Given the description of an element on the screen output the (x, y) to click on. 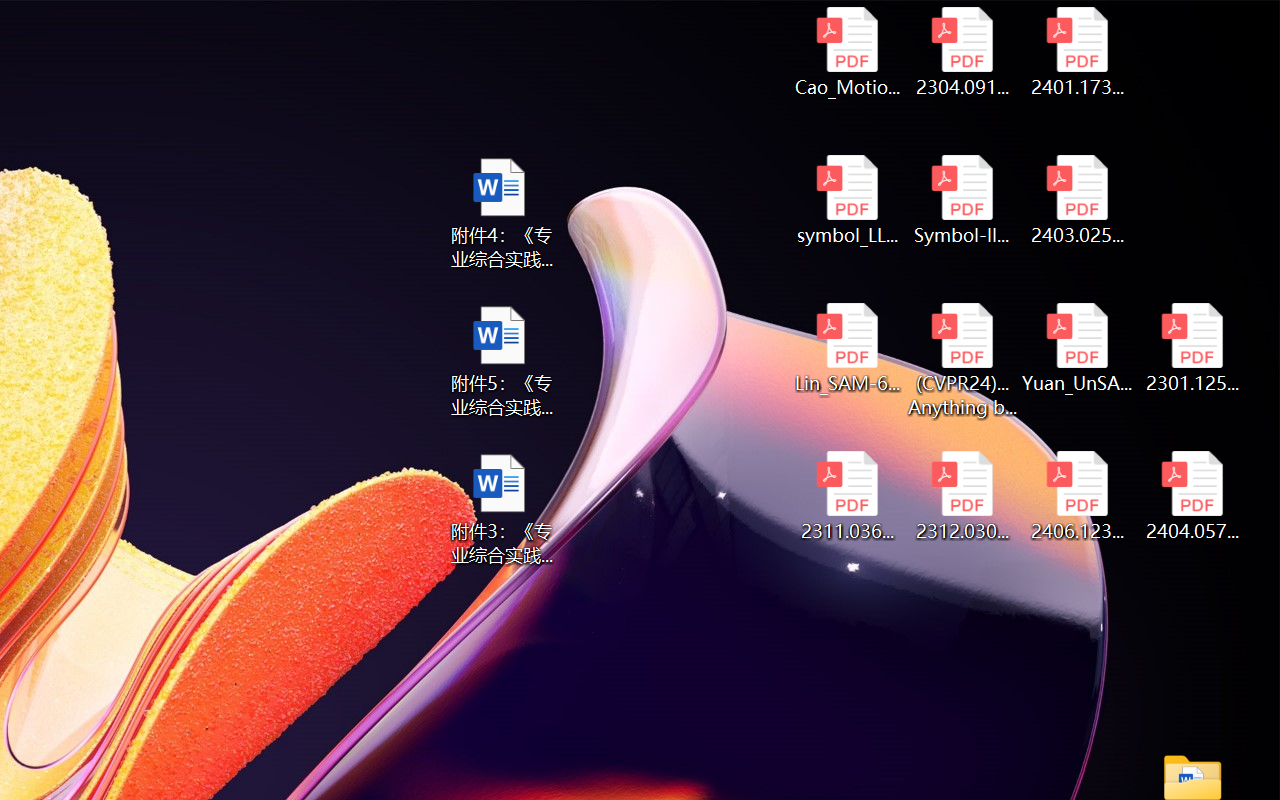
2304.09121v3.pdf (962, 52)
